Given the description of an element on the screen output the (x, y) to click on. 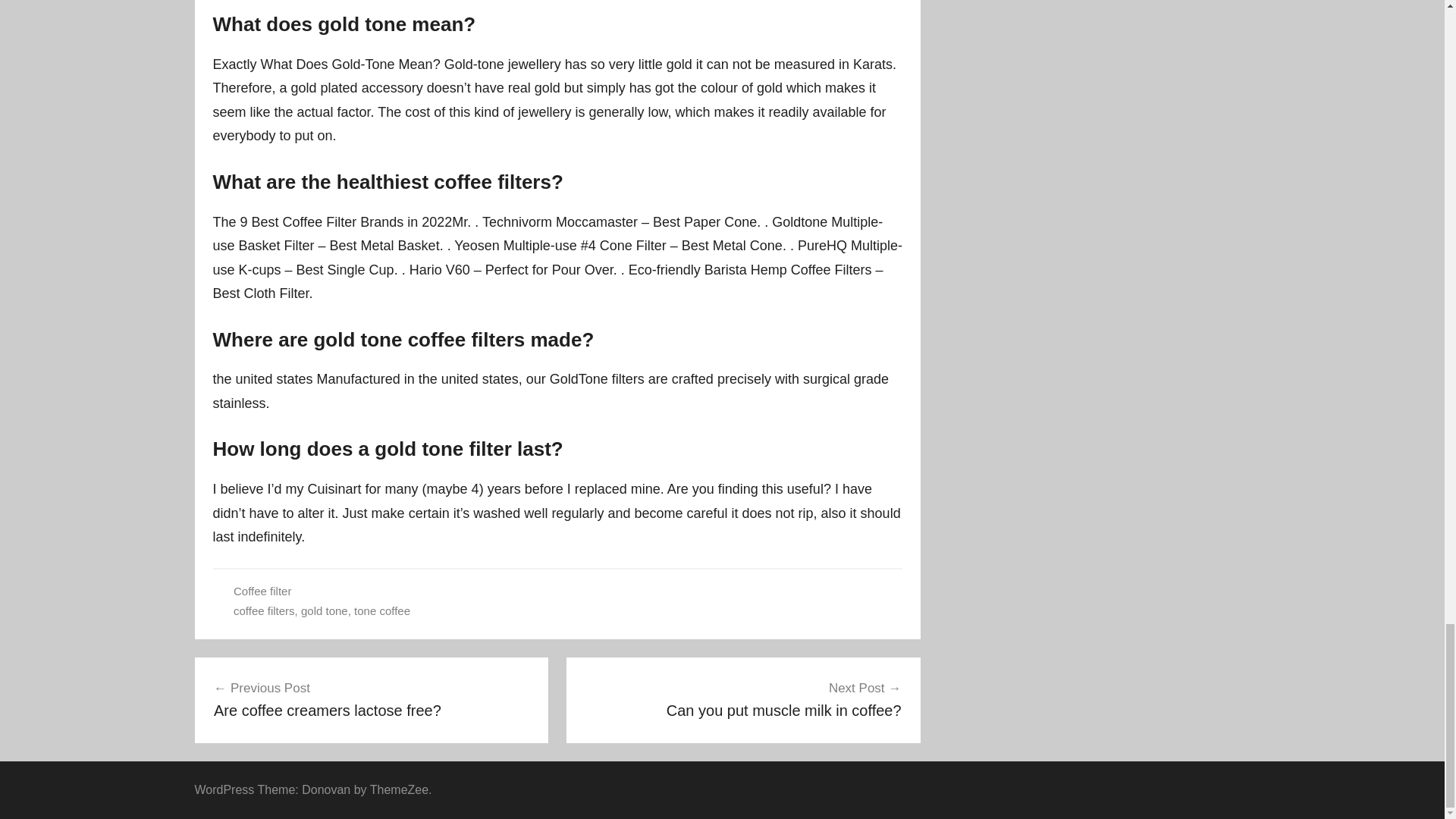
Coffee filter (261, 590)
gold tone (324, 610)
coffee filters (371, 699)
tone coffee (263, 610)
